Given the description of an element on the screen output the (x, y) to click on. 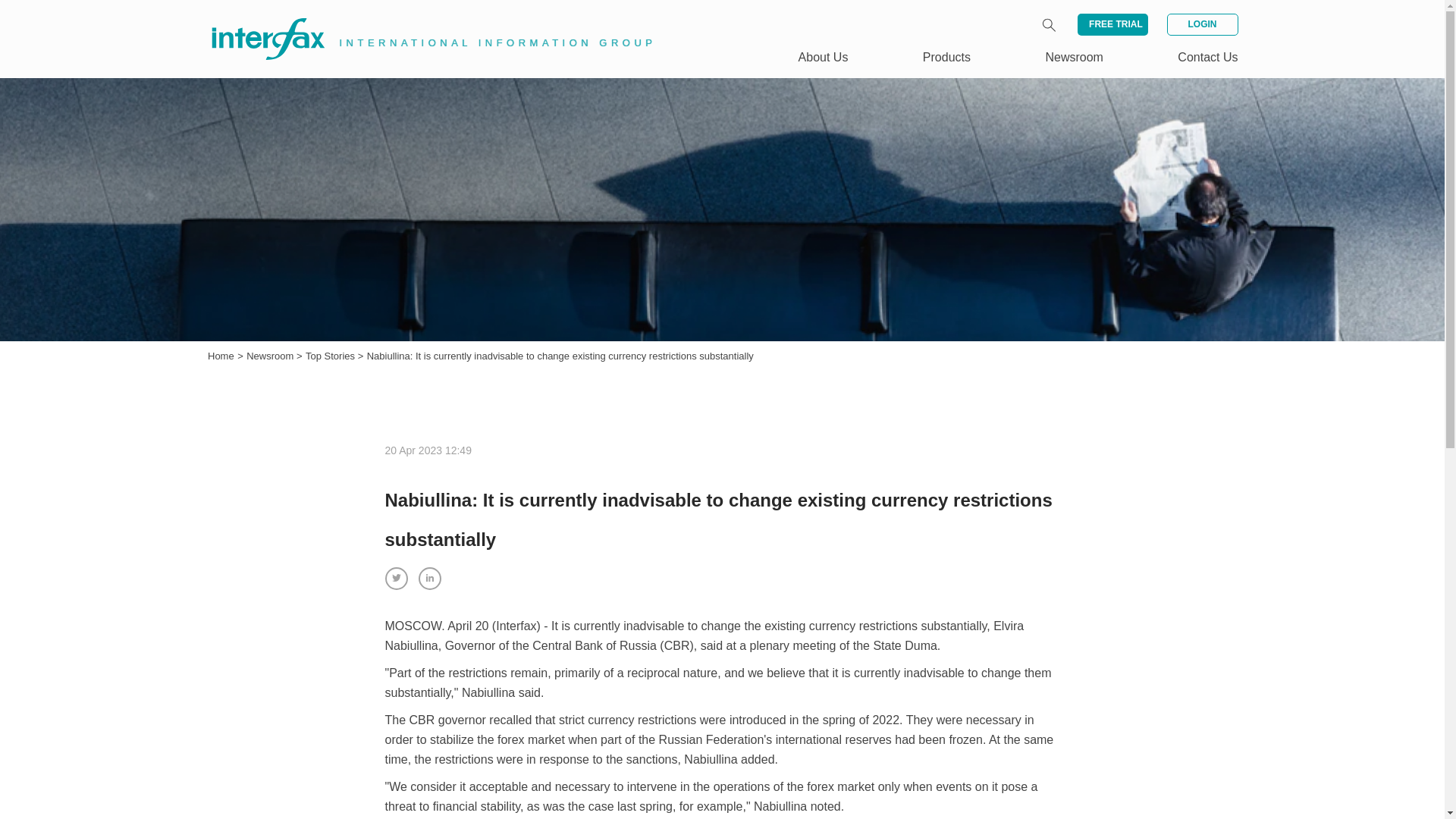
Top Stories (331, 355)
FREE TRIAL (1112, 24)
LOGIN (1201, 24)
Contact Us (1207, 56)
Newsroom (271, 355)
Newsroom (1073, 56)
Products (947, 56)
INTERNATIONAL INFORMATION GROUP (421, 20)
Newsroom (271, 355)
Contact Us (1207, 56)
Home (221, 355)
About Us (822, 56)
